Given the description of an element on the screen output the (x, y) to click on. 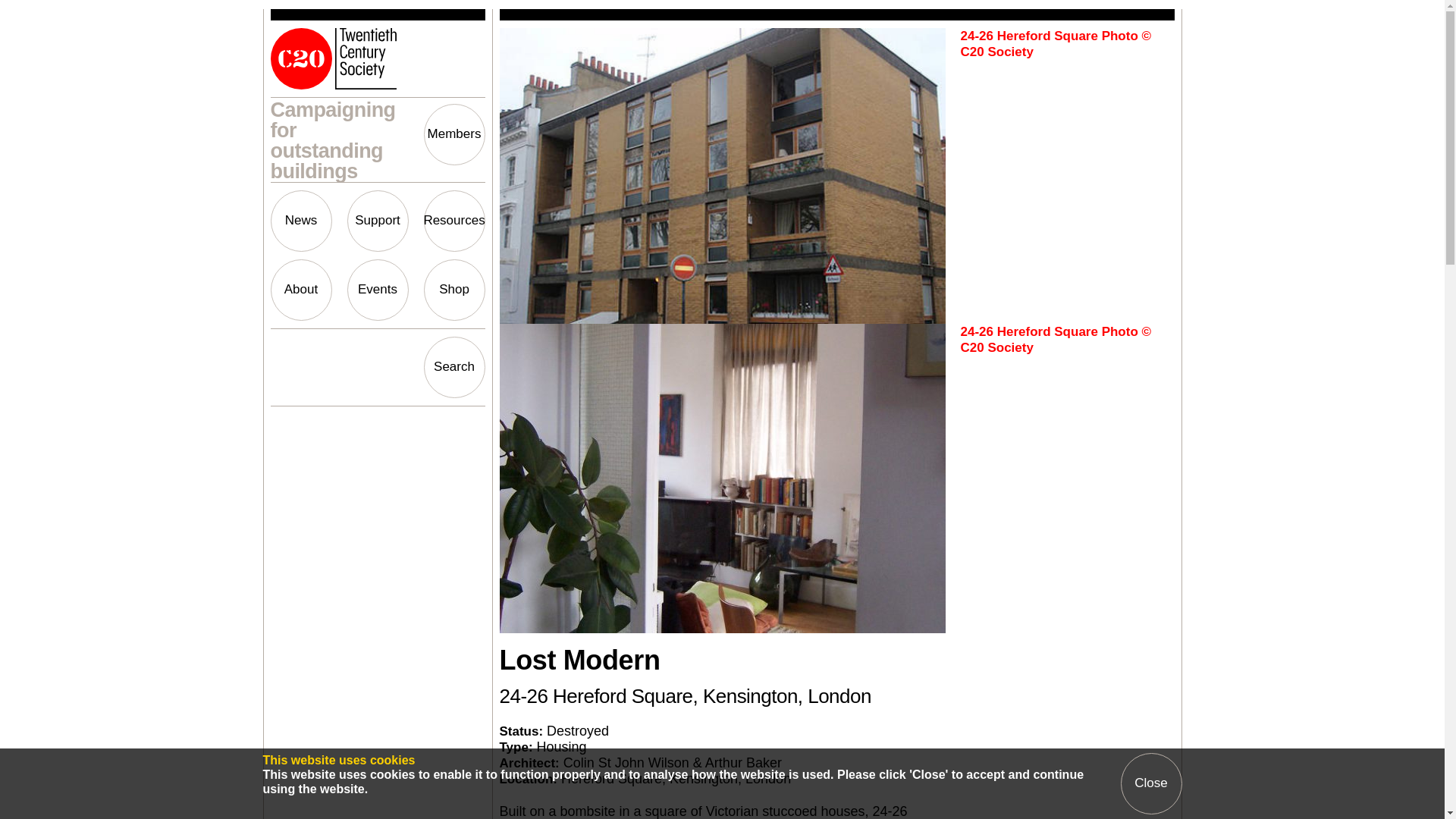
Members (453, 134)
About (300, 290)
News (300, 220)
Support (378, 220)
Resources (453, 220)
Shop (453, 290)
Events (378, 290)
